Given the description of an element on the screen output the (x, y) to click on. 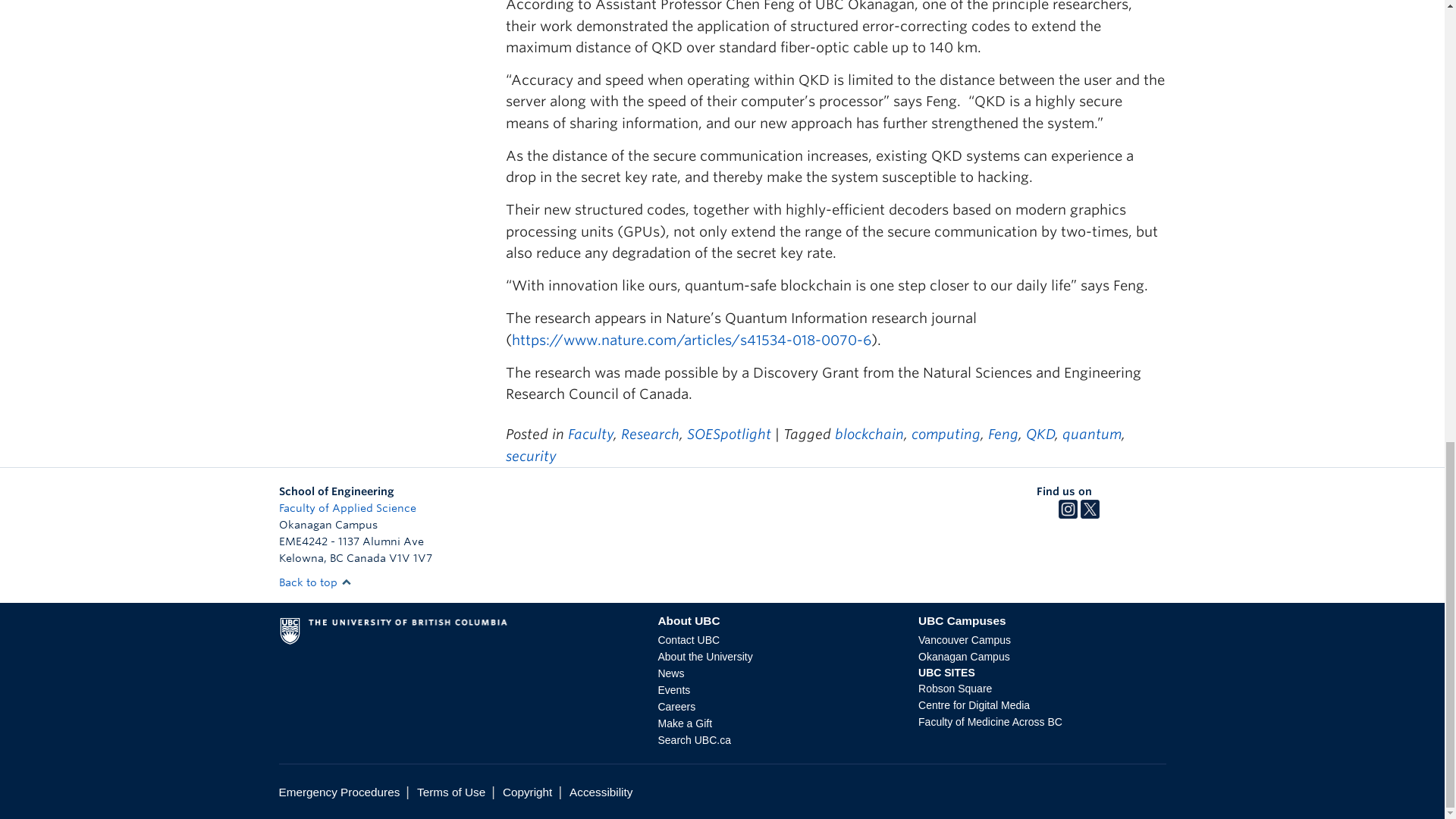
Facebook icon (1045, 514)
Instagram icon (1067, 514)
YouTube icon (1133, 514)
Back to top (315, 582)
Twitter icon (1089, 514)
LinkedIn icon (1111, 514)
